Given the description of an element on the screen output the (x, y) to click on. 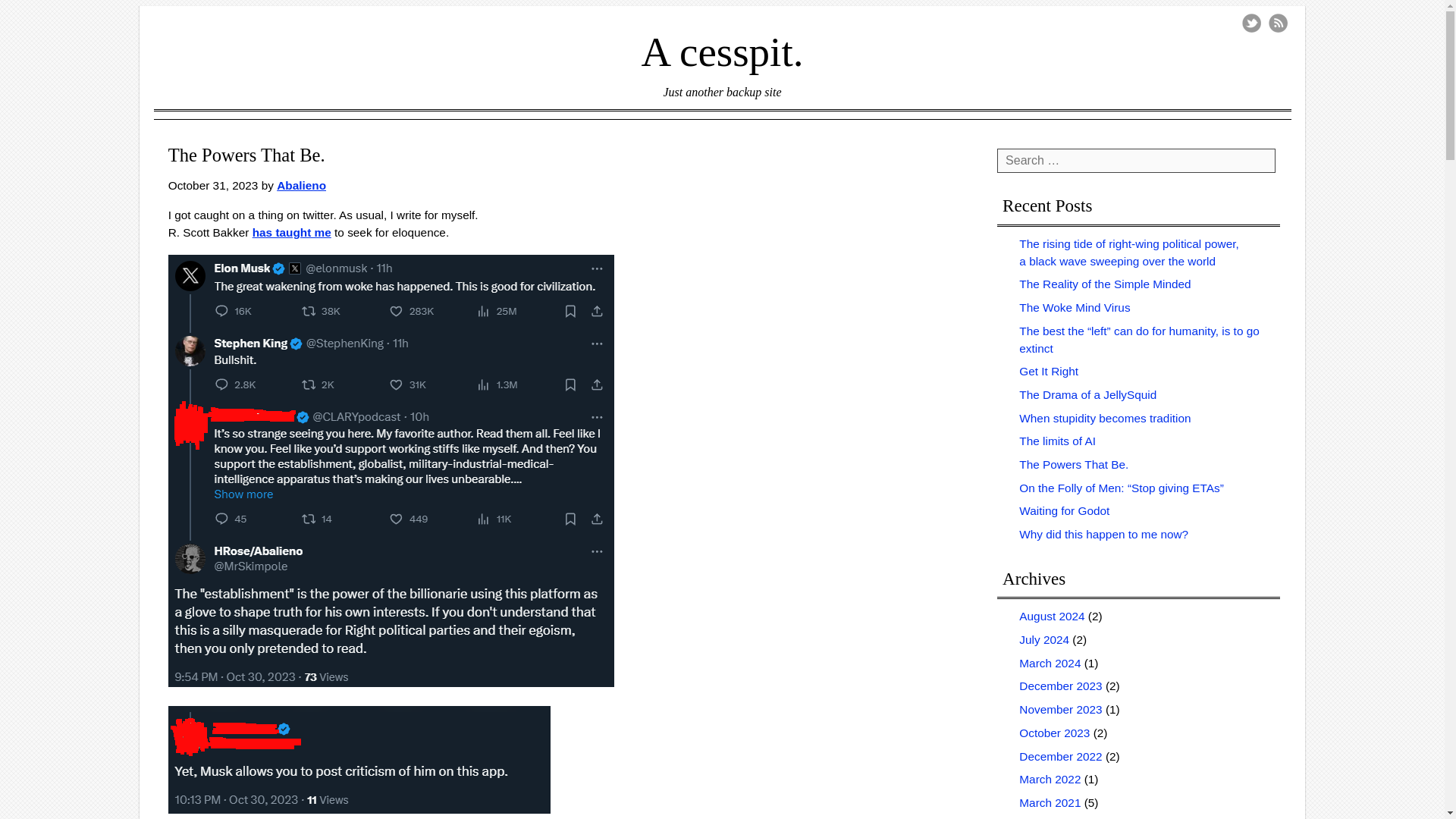
Abalieno (301, 185)
The Powers That Be. (1073, 463)
View all posts by Abalieno (301, 185)
Get It Right (1048, 370)
December 2022 (1060, 755)
RSS Feed (1277, 22)
When stupidity becomes tradition (1105, 418)
has taught me (291, 232)
The Reality of the Simple Minded (1105, 283)
